Given the description of an element on the screen output the (x, y) to click on. 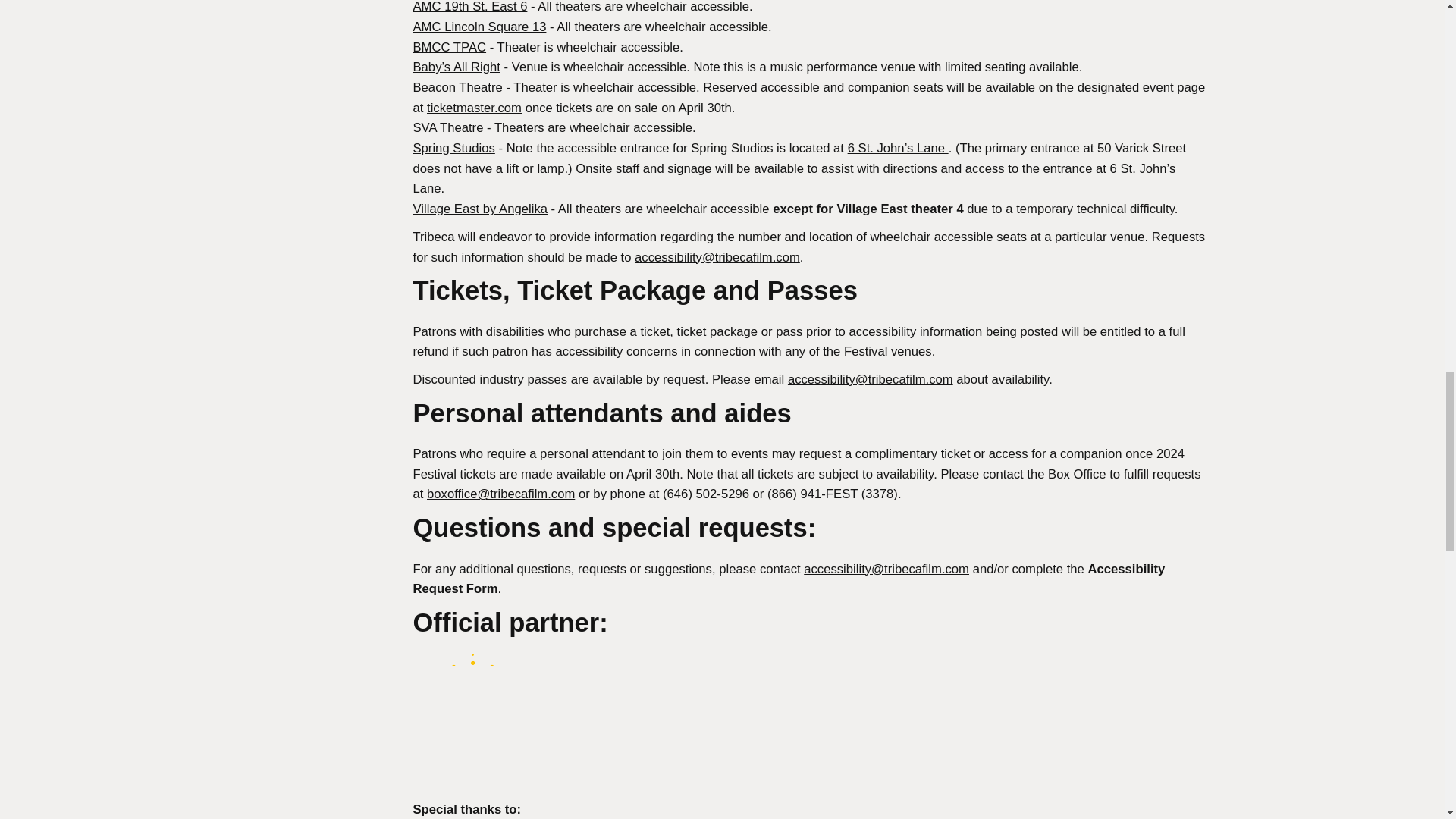
BMCC TPAC (449, 47)
AMC Lincoln Square 13 (479, 26)
AMC 19th St. East 6 (469, 6)
